Given the description of an element on the screen output the (x, y) to click on. 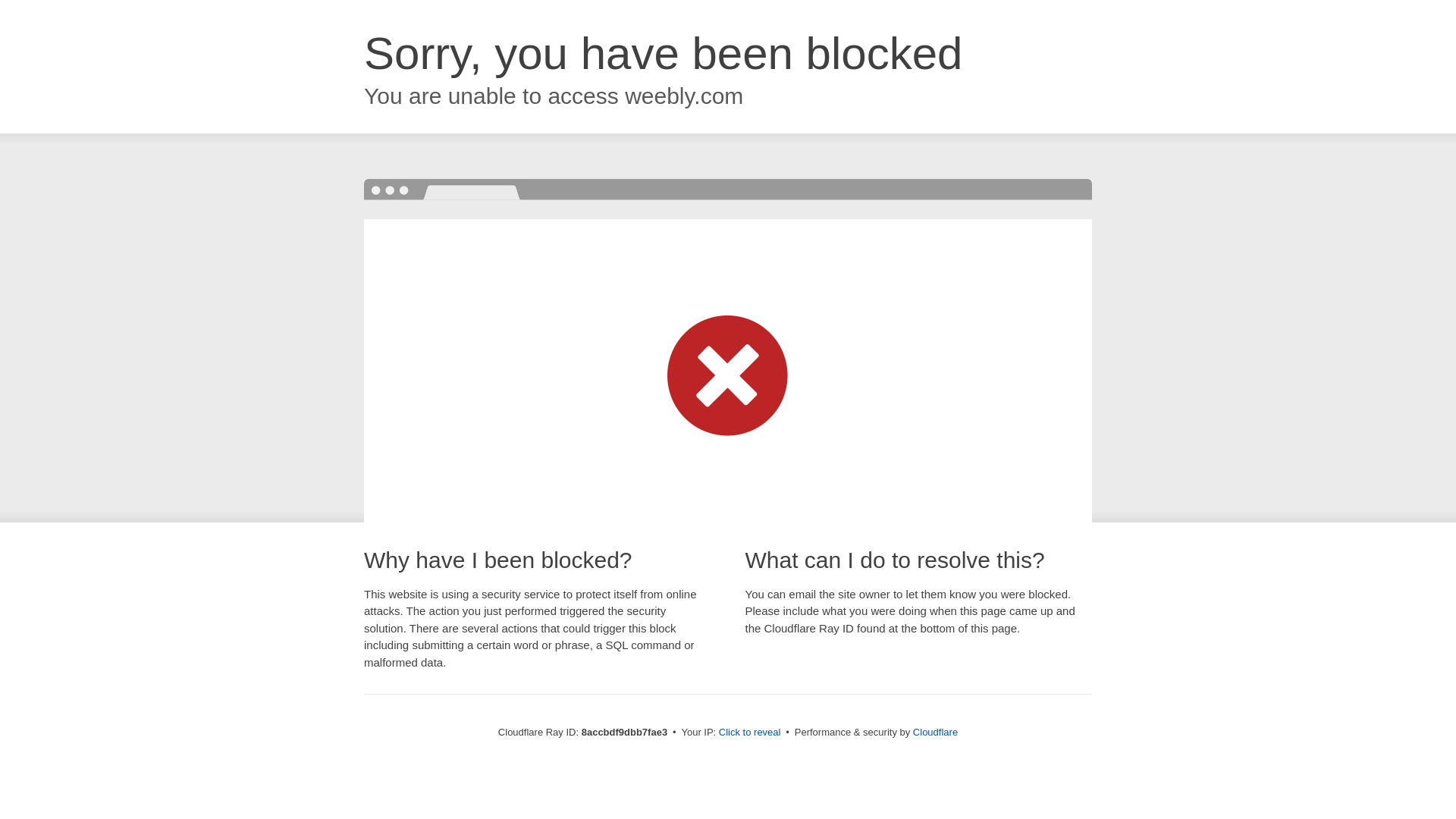
Click to reveal (749, 732)
Cloudflare (935, 731)
